Given the description of an element on the screen output the (x, y) to click on. 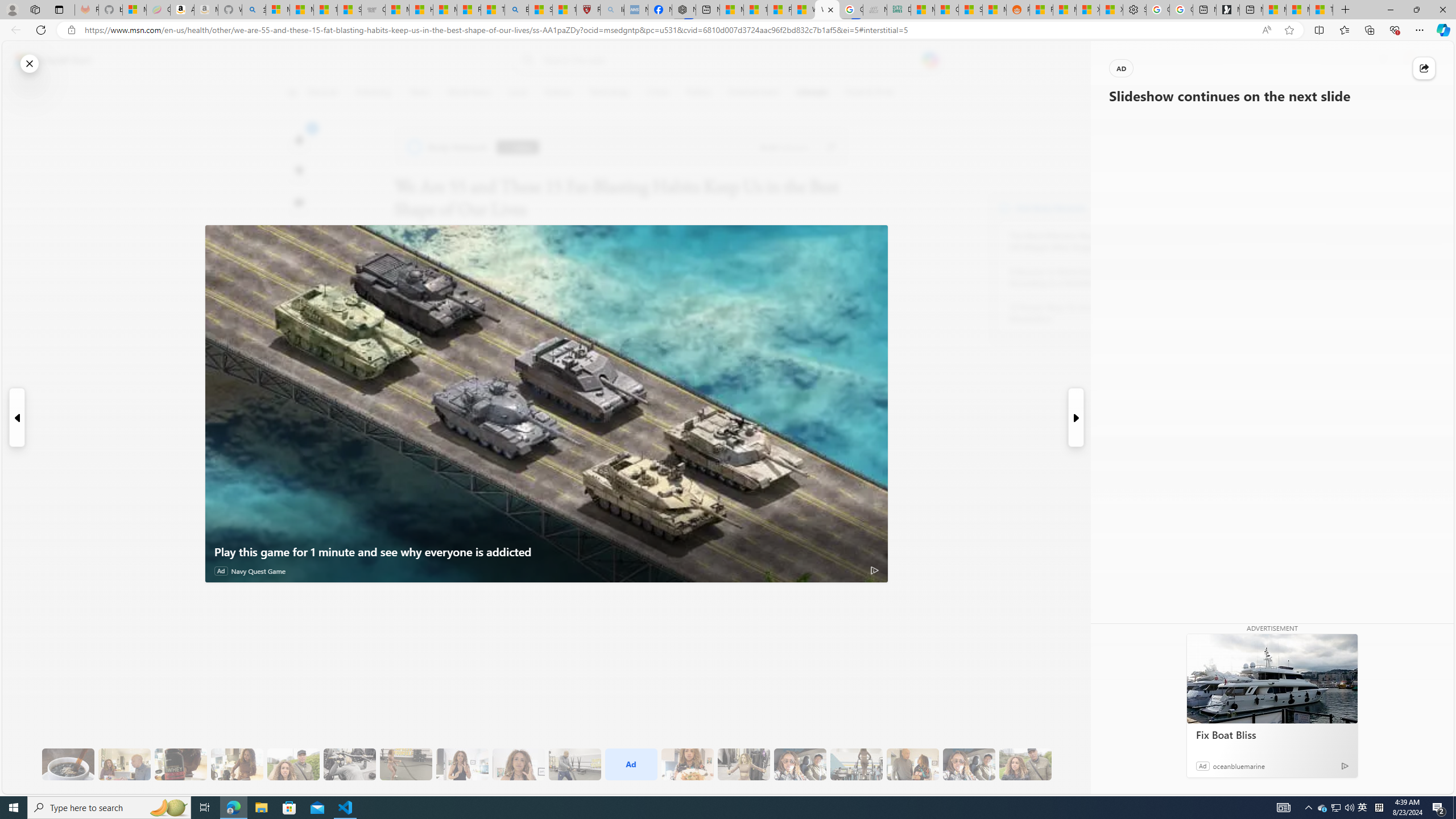
Next Slide (1076, 417)
20 Overall, It Will Improve Your Health (1024, 764)
14 They Have Salmon and Veggies for Dinner (687, 764)
12 Proven Ways To Increase Your Metabolism (1071, 313)
6 (299, 170)
16 The Couple's Program Helps with Accountability (800, 764)
